Given the description of an element on the screen output the (x, y) to click on. 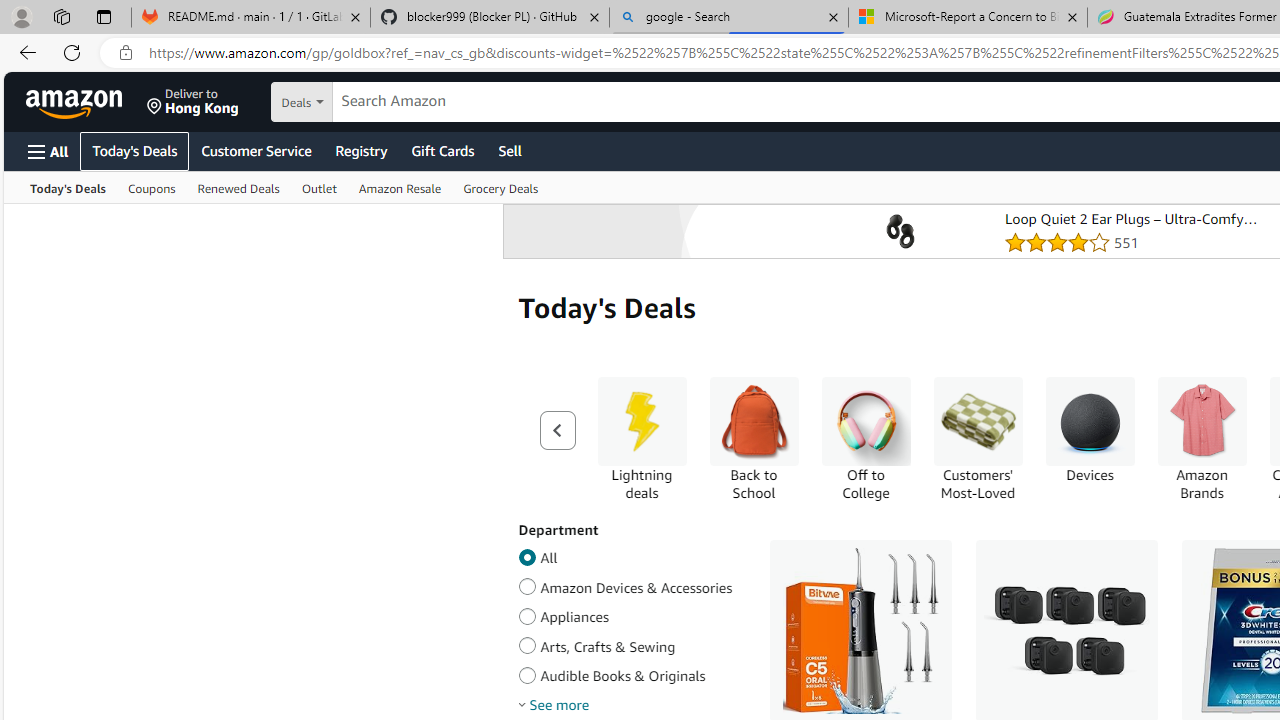
Skip to main content (86, 100)
Lightning deals Lightning deals (641, 439)
Outlet (319, 187)
Previous (557, 429)
Customers' Most-Loved Customers' Most-Loved (977, 439)
Grocery Deals (500, 187)
4.2 out of 5 stars. (1137, 242)
Sell (509, 150)
Lightning deals (641, 421)
Off to College (865, 439)
Search in (371, 102)
Back to School Back to School (753, 439)
